Given the description of an element on the screen output the (x, y) to click on. 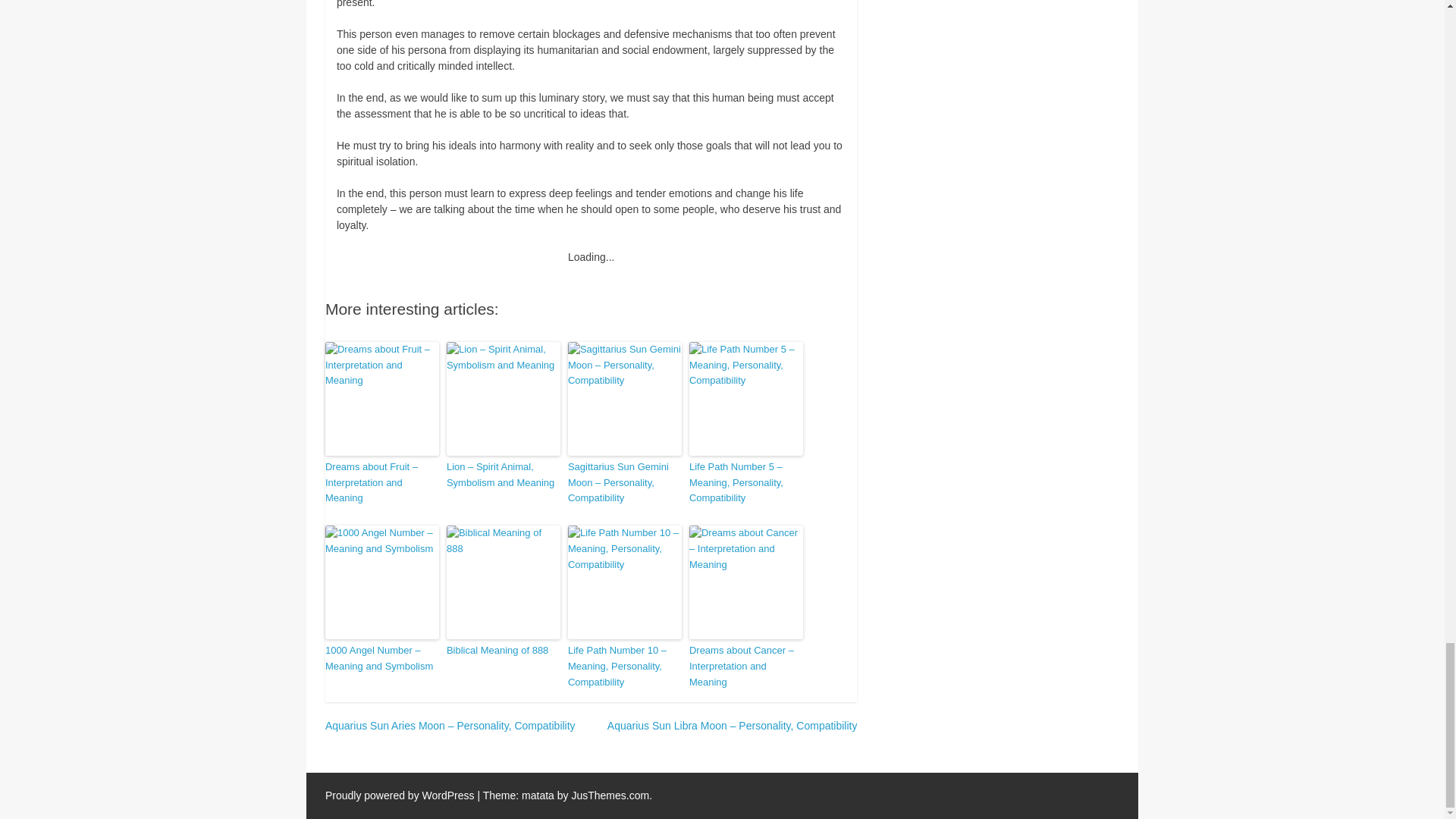
Biblical Meaning of 888 (503, 650)
JusThemes.com (609, 795)
Proudly powered by WordPress (399, 795)
